Given the description of an element on the screen output the (x, y) to click on. 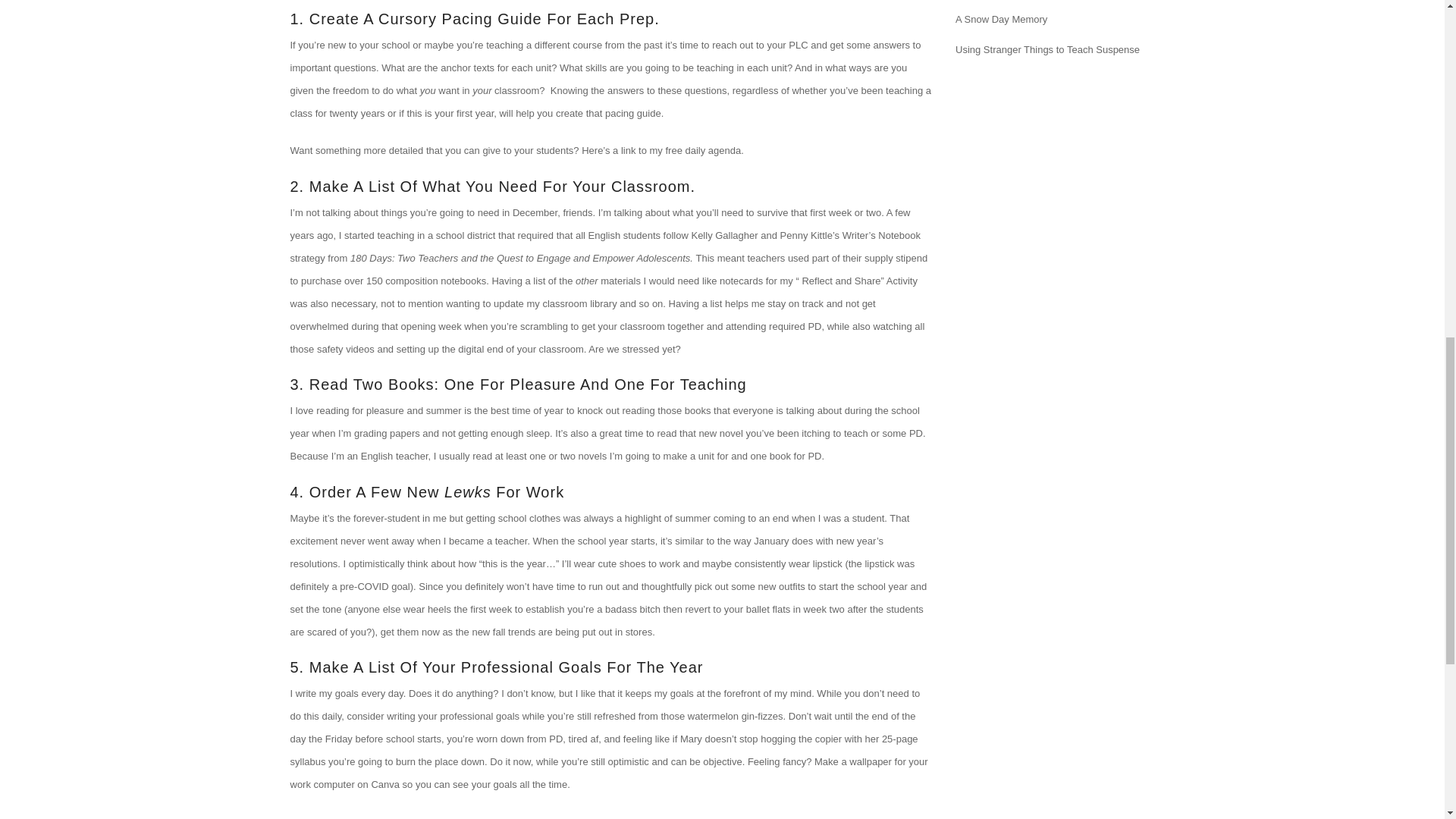
free daily agenda. (703, 150)
Using Stranger Things to Teach Suspense (1047, 49)
A Snow Day Memory (1000, 19)
